Given the description of an element on the screen output the (x, y) to click on. 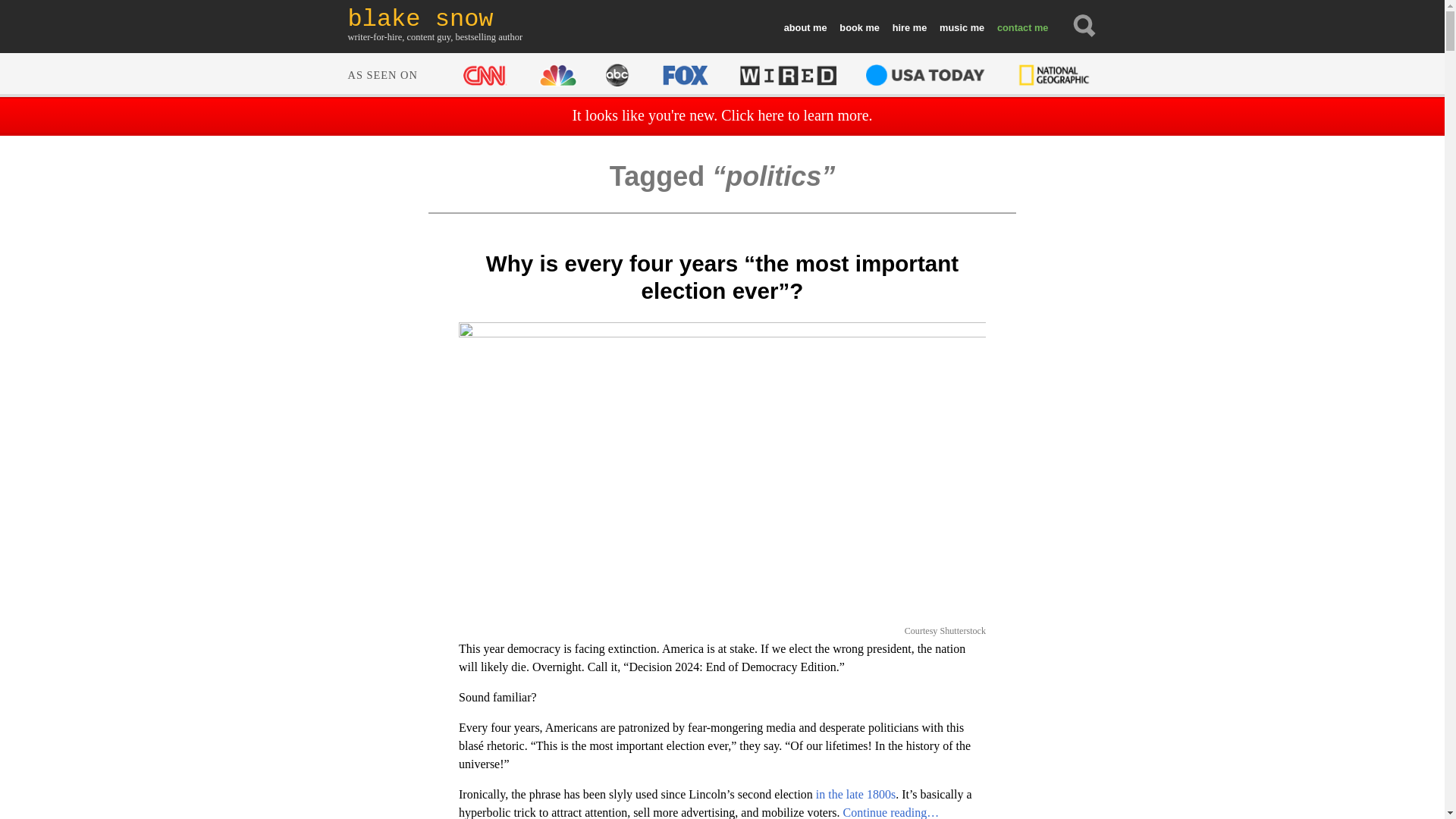
music (962, 28)
contact (1020, 28)
in the late 1800s (855, 793)
Blake Snow (434, 18)
about (804, 28)
AS SEEN ON (719, 73)
book (858, 28)
hire (908, 28)
blake snow (434, 18)
